Given the description of an element on the screen output the (x, y) to click on. 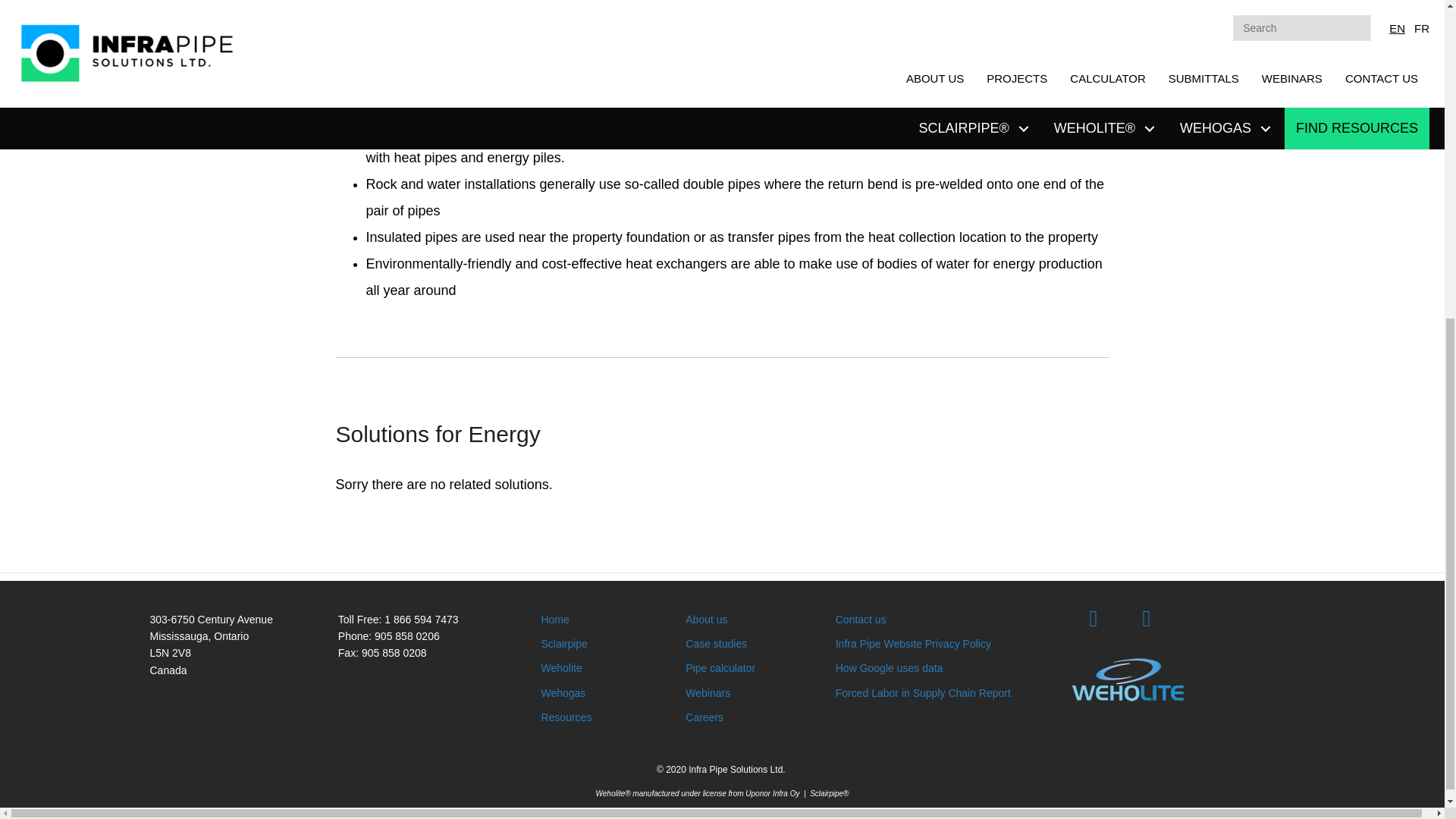
303-6750 Century Avenue (211, 619)
L5N 2V8 (169, 653)
Canada (168, 670)
YouTube (1146, 618)
LinkedIn (1093, 618)
Mississauga, Ontario (198, 635)
